Given the description of an element on the screen output the (x, y) to click on. 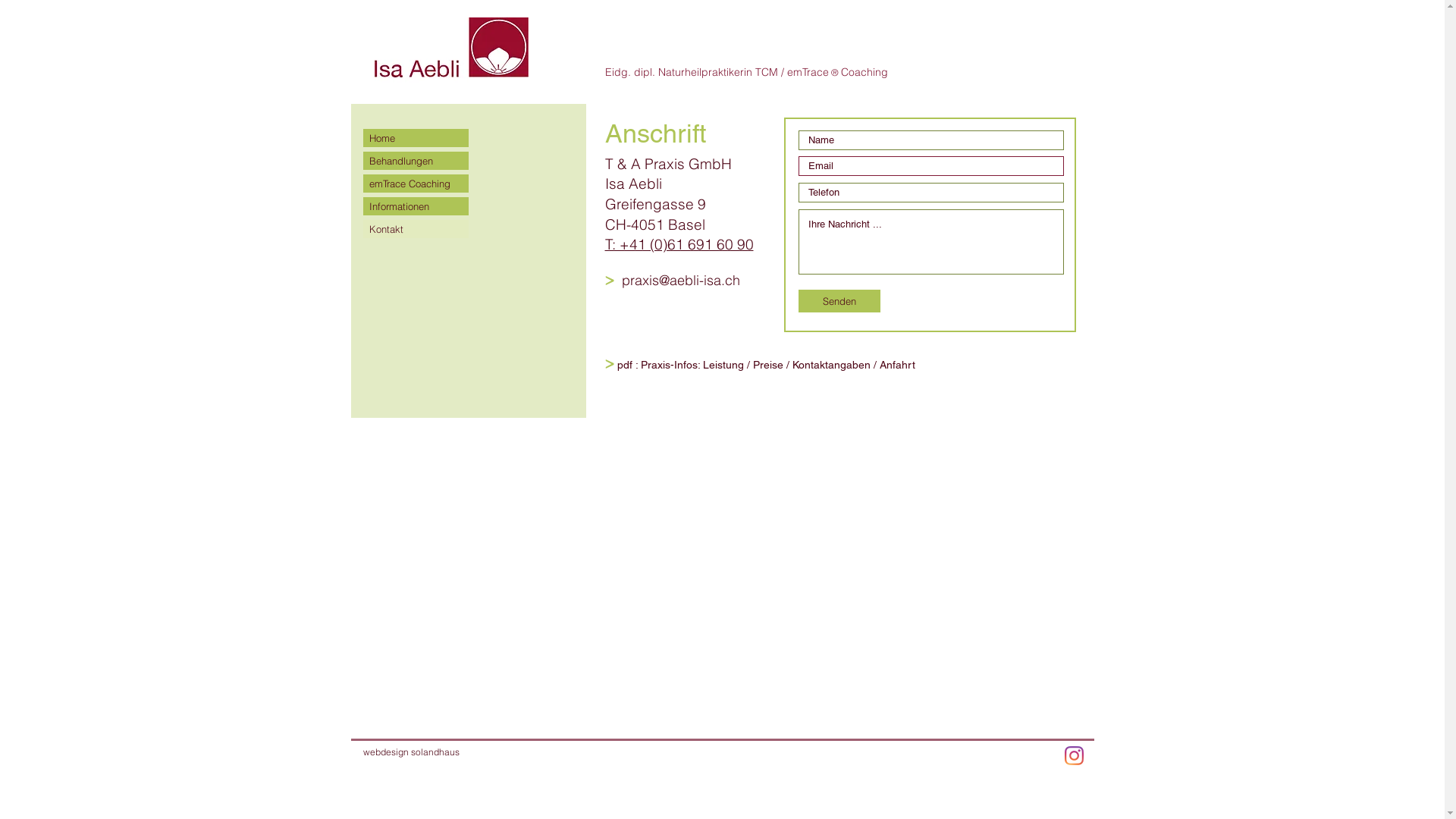
Senden Element type: text (838, 300)
T: +41 (0)61 691 60 90 Element type: text (679, 243)
Coaching Element type: text (863, 71)
Kontakt Element type: text (415, 228)
Eidg. dipl. Naturheilpraktikerin TCM / emTrace Element type: text (716, 71)
Google Maps Element type: hover (721, 570)
emTrace Coaching Element type: text (415, 183)
> Element type: text (609, 278)
praxis@aebli-isa.ch Element type: text (680, 279)
webdesign solandhaus Element type: text (410, 751)
Home Element type: text (415, 137)
  Element type: text (615, 281)
